Given the description of an element on the screen output the (x, y) to click on. 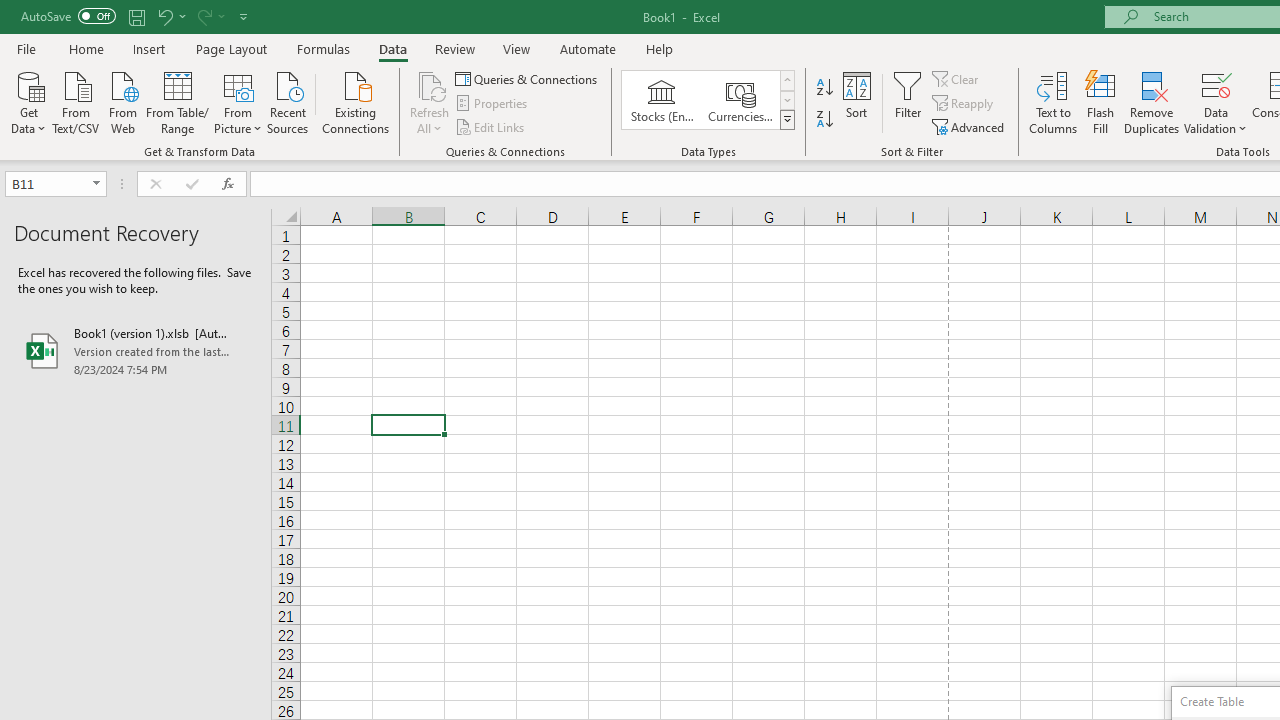
From Web (122, 101)
Sort... (856, 102)
Edit Links (491, 126)
AutomationID: ConvertToLinkedEntity (708, 99)
